Given the description of an element on the screen output the (x, y) to click on. 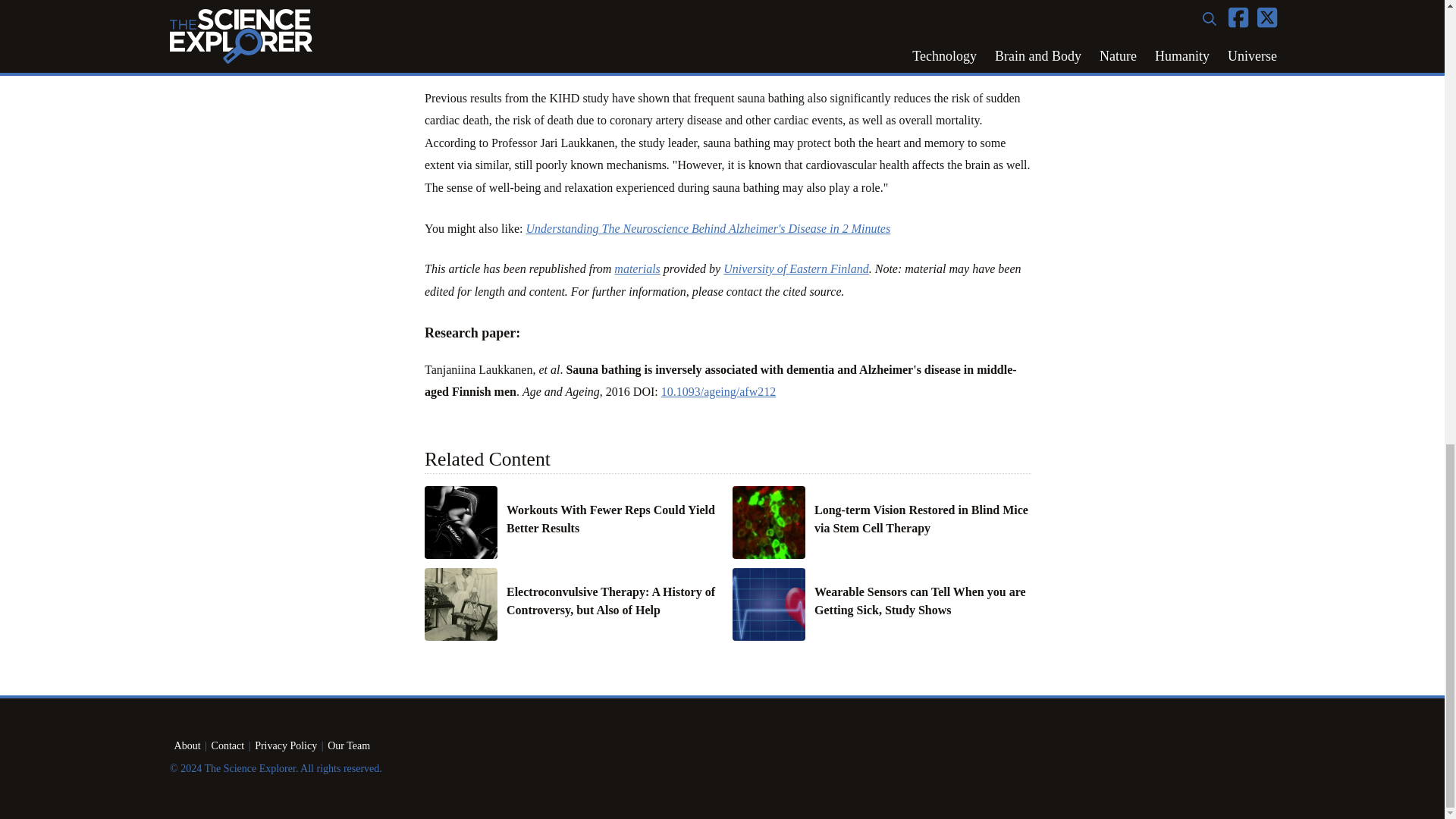
University of Eastern Finland (796, 268)
materials (636, 268)
Workouts With Fewer Reps Could Yield Better Results (614, 519)
